Given the description of an element on the screen output the (x, y) to click on. 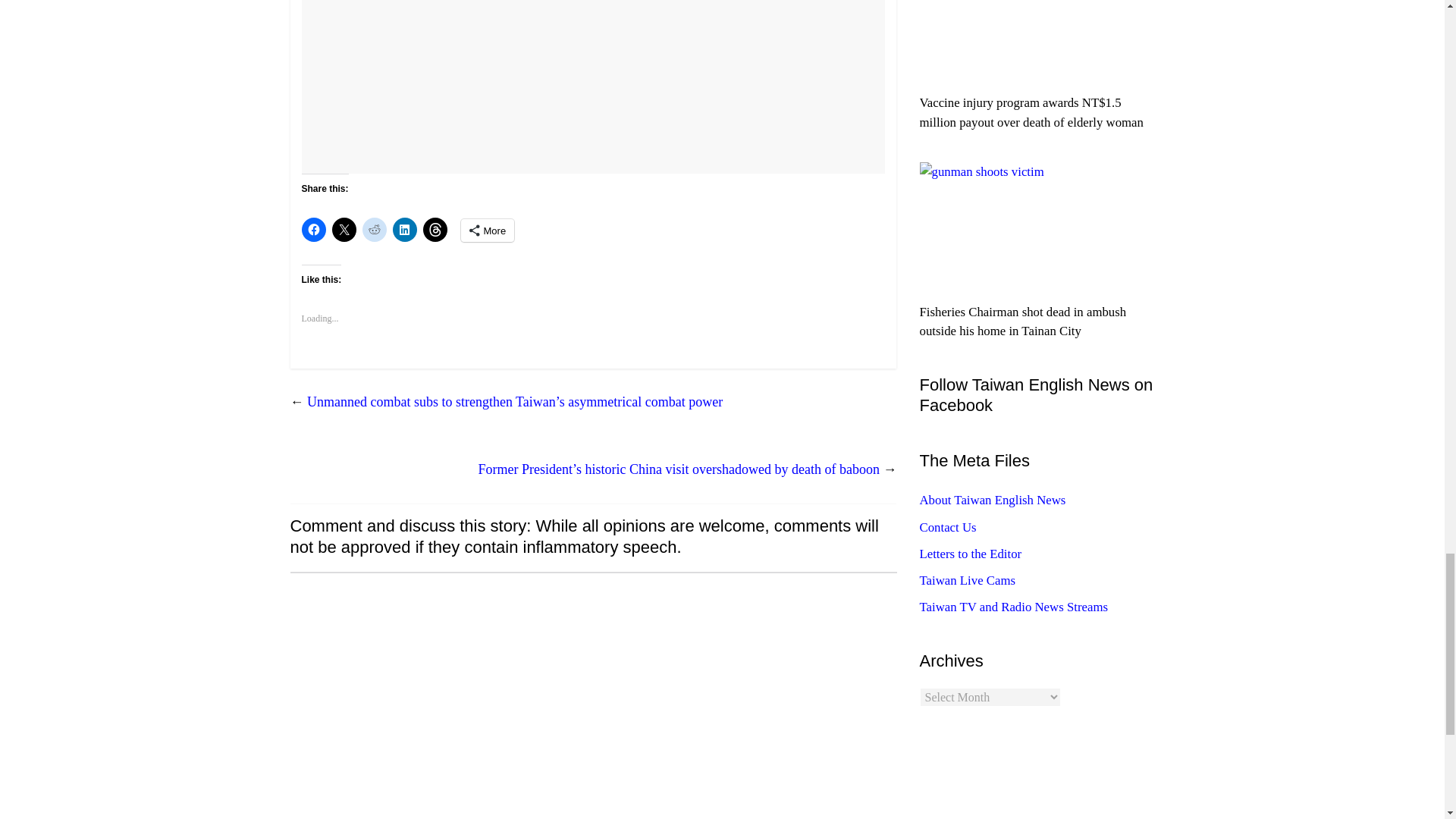
Click to share on Threads (434, 229)
Click to share on Facebook (313, 229)
Click to share on Reddit (374, 229)
Click to share on LinkedIn (404, 229)
More (488, 230)
Click to share on X (343, 229)
